Given the description of an element on the screen output the (x, y) to click on. 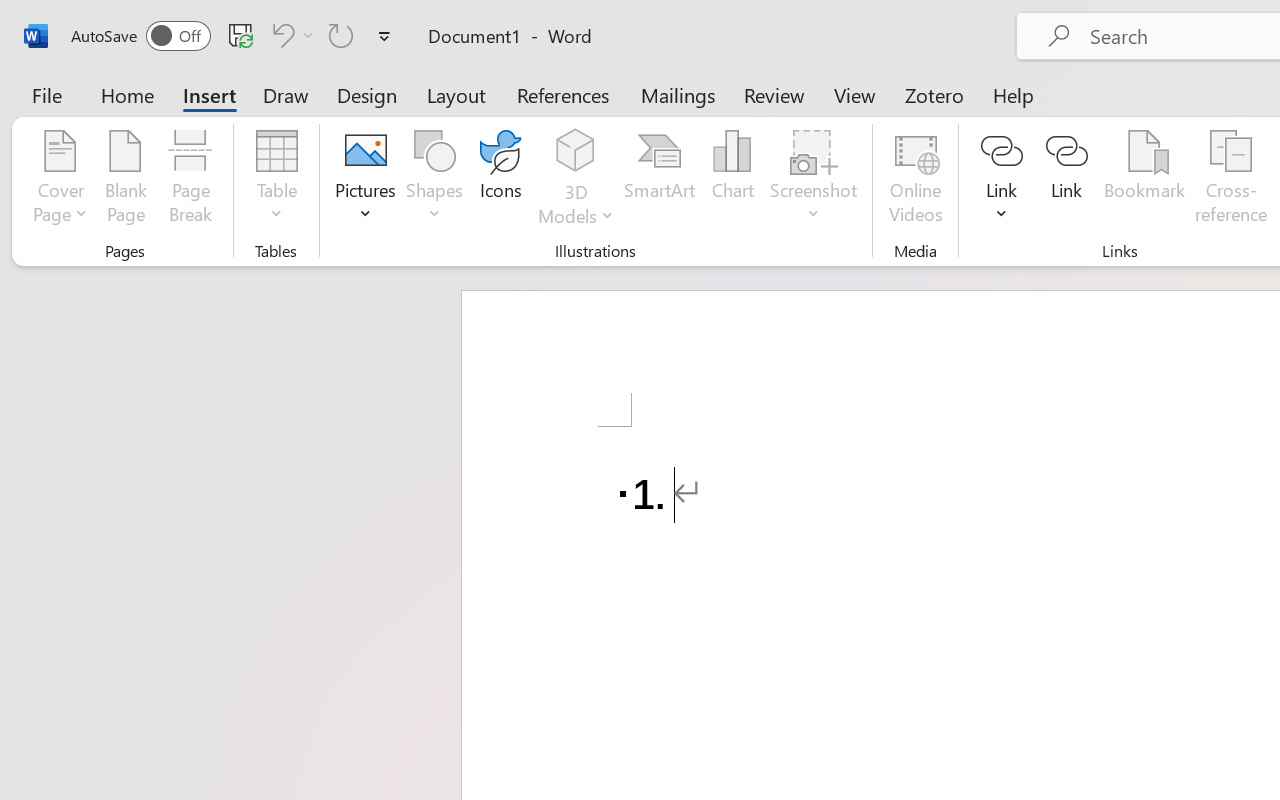
Online Videos... (915, 179)
Undo Number Default (280, 35)
Cross-reference... (1231, 179)
Bookmark... (1144, 179)
Table (276, 179)
Screenshot (813, 179)
Chart... (732, 179)
